Given the description of an element on the screen output the (x, y) to click on. 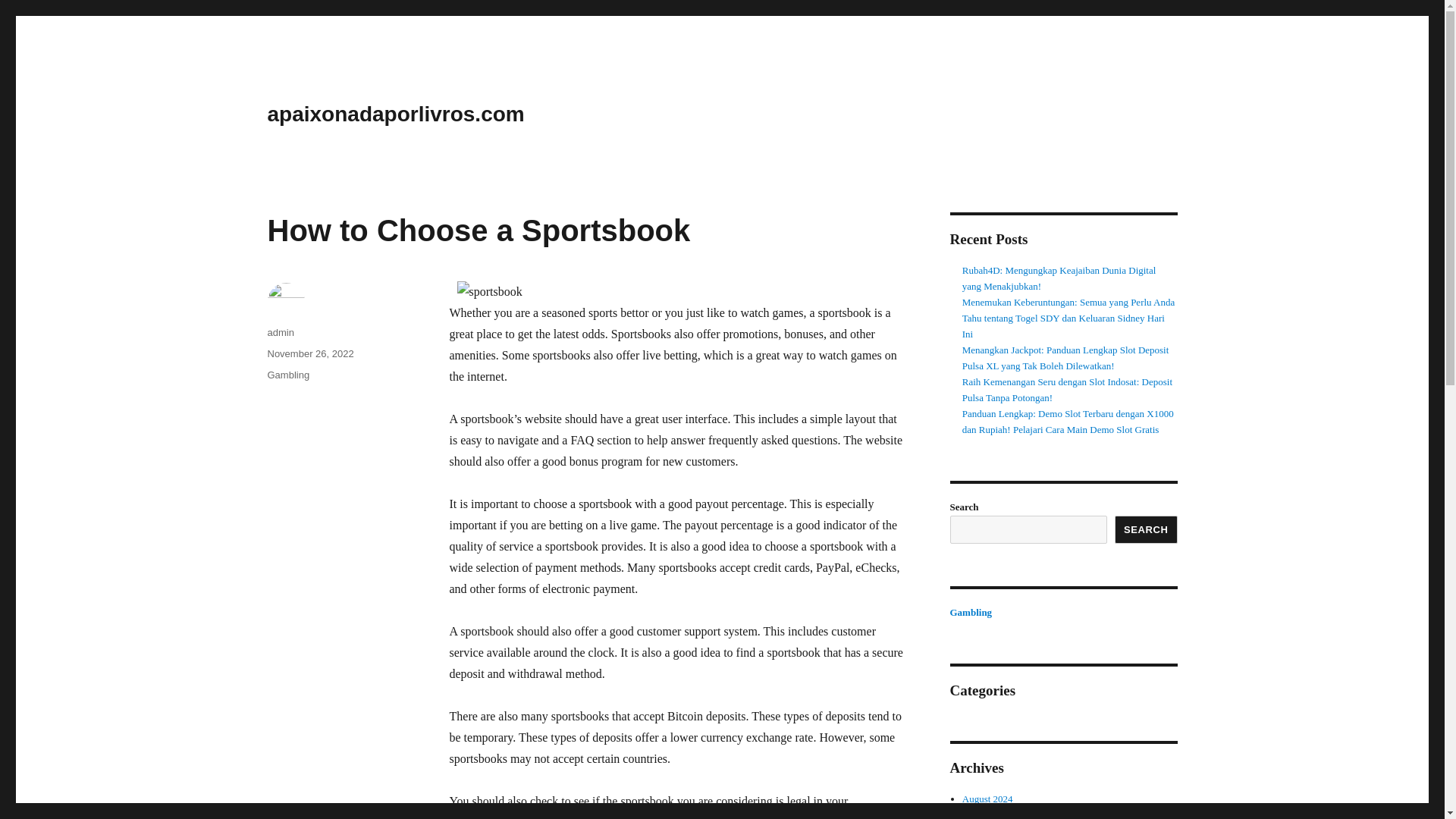
Gambling (970, 612)
Gambling (287, 374)
apaixonadaporlivros.com (395, 114)
admin (280, 332)
August 2024 (987, 798)
November 26, 2022 (309, 353)
